Given the description of an element on the screen output the (x, y) to click on. 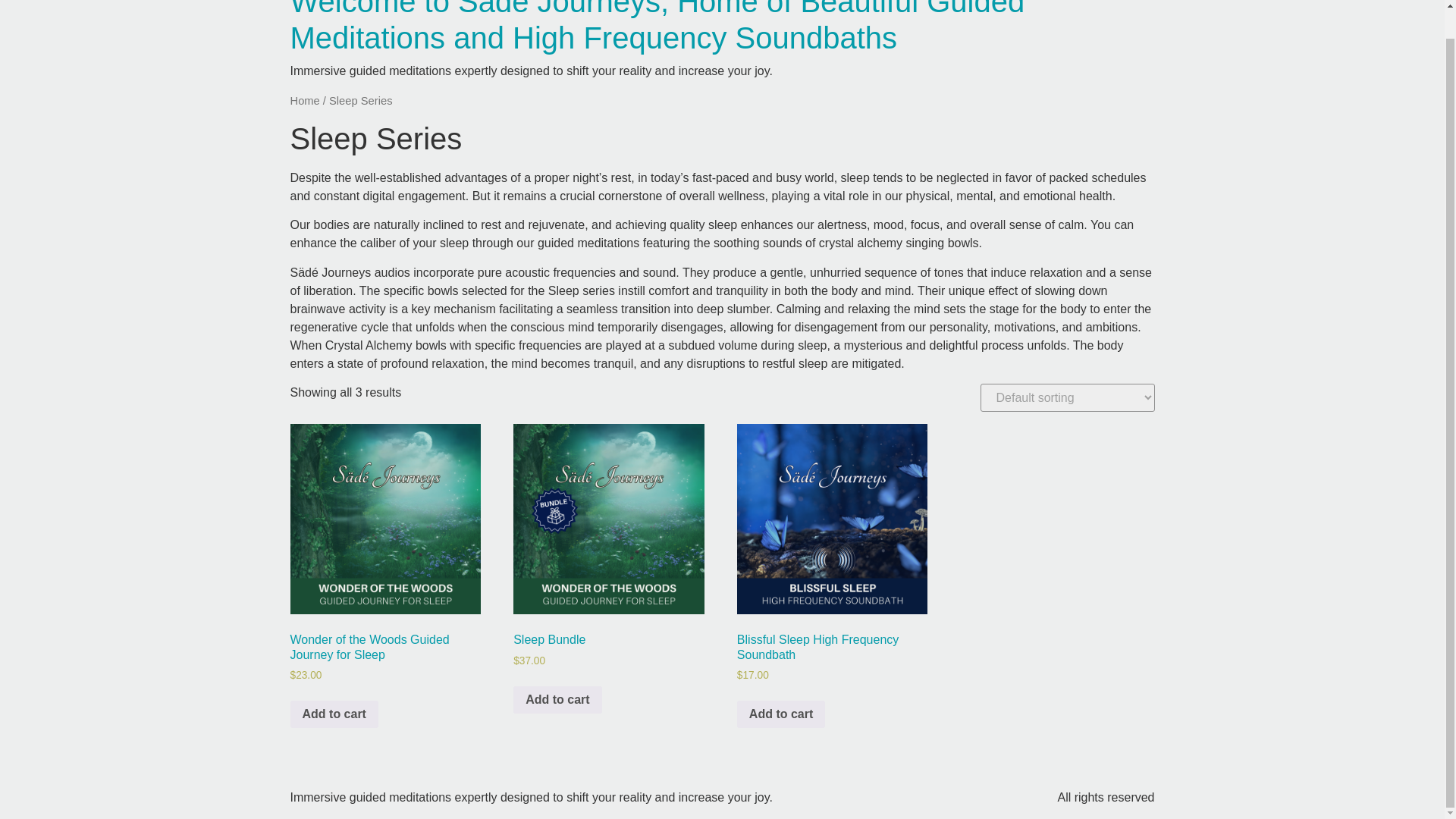
Blissful Sleep High Frequency Soundbath (831, 519)
Add to cart (780, 714)
Home (303, 101)
Add to cart (333, 714)
Home (657, 27)
Wonder of the Woods Guided Journey for Sleep (384, 519)
Sleep Bundle (608, 519)
Add to cart (557, 699)
